Given the description of an element on the screen output the (x, y) to click on. 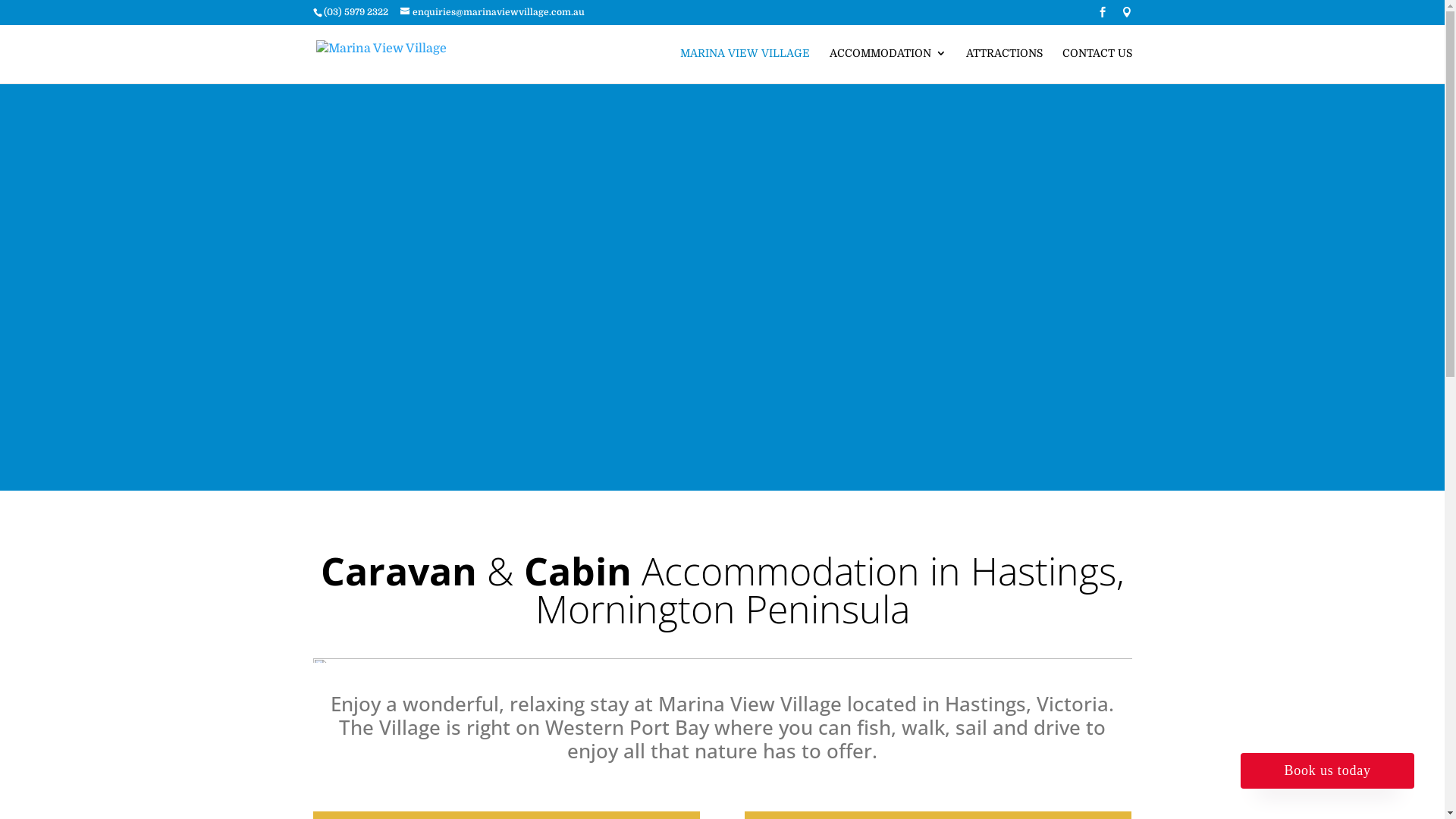
Book us today Element type: text (1327, 770)
ACCOMMODATION Element type: text (887, 65)
(03) 5979 2322 Element type: text (355, 11)
MARINA VIEW VILLAGE Element type: text (744, 65)
CONTACT US Element type: text (1096, 65)
enquiries@marinaviewvillage.com.au Element type: text (492, 11)
ATTRACTIONS Element type: text (1004, 65)
